Given the description of an element on the screen output the (x, y) to click on. 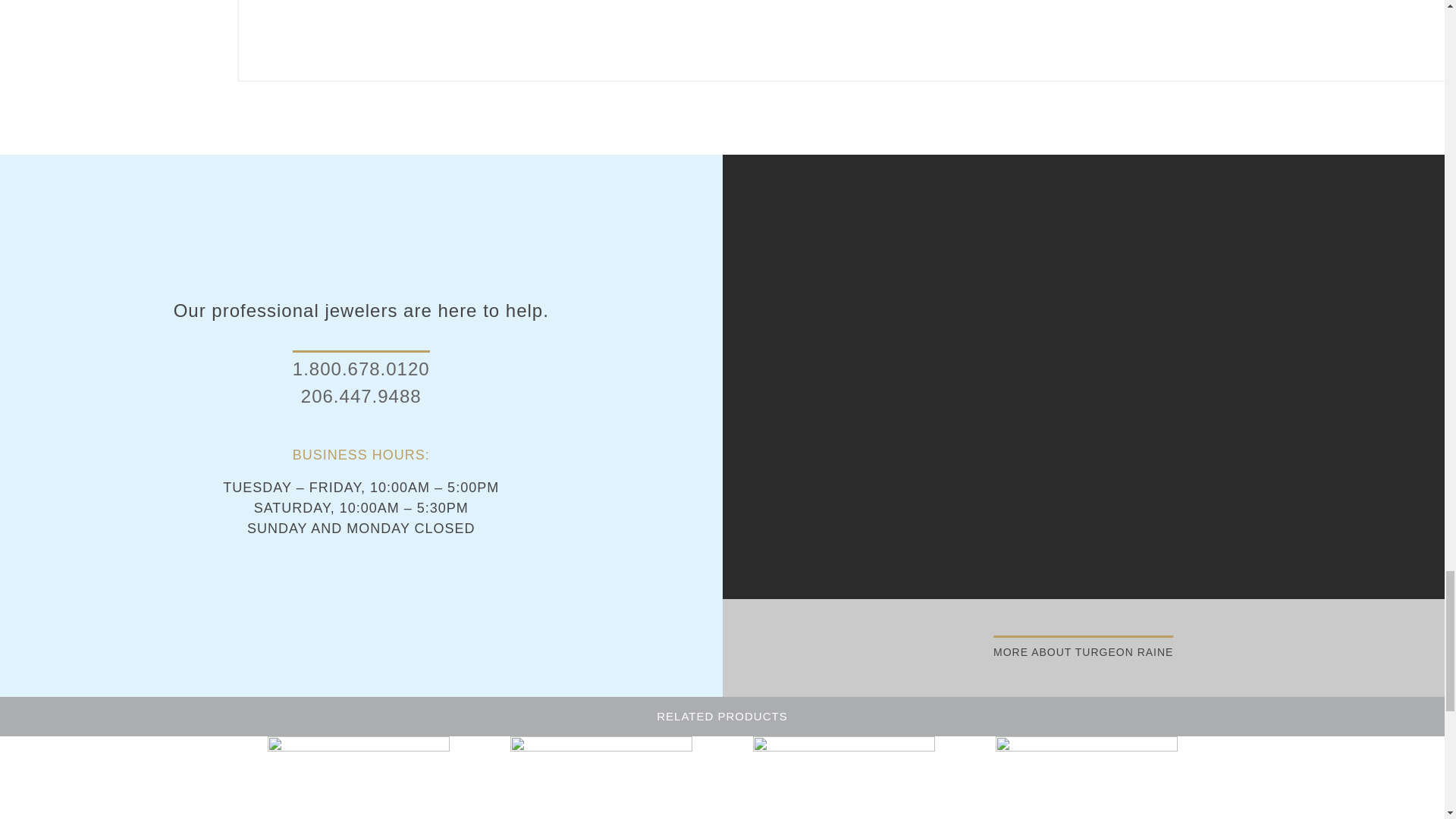
206.447.9488 (361, 395)
1.800.678.0120 (360, 368)
MORE ABOUT TURGEON RAINE (1082, 647)
